Given the description of an element on the screen output the (x, y) to click on. 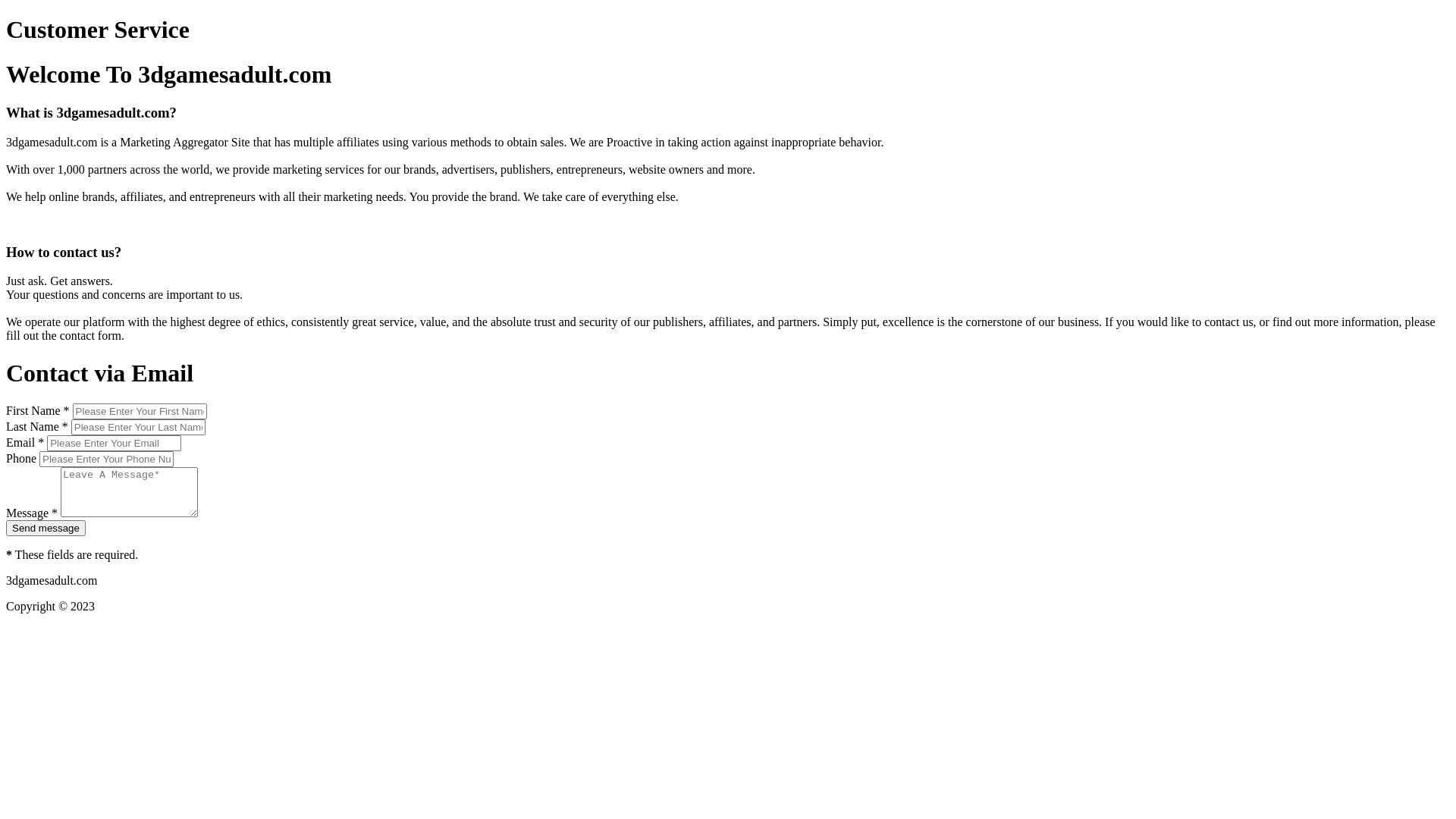
Send message Element type: text (45, 528)
